Given the description of an element on the screen output the (x, y) to click on. 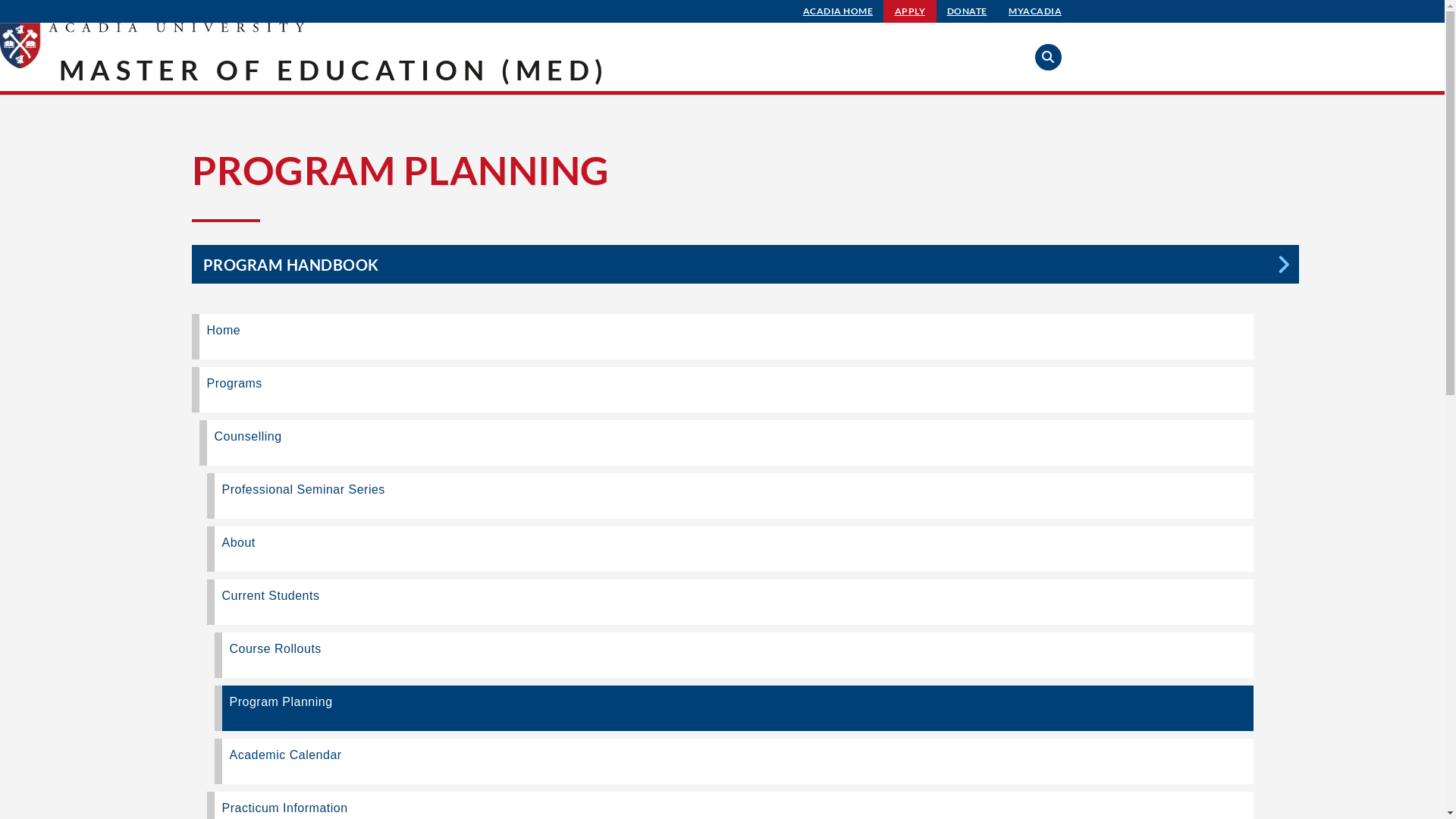
MYACADIA Element type: text (1035, 11)
PROGRAM HANDBOOK Element type: text (744, 263)
Current Students Element type: text (729, 601)
Programs Element type: text (721, 389)
Course Rollouts Element type: text (732, 654)
MASTER OF EDUCATION (MED) Element type: text (333, 69)
APPLY Element type: text (909, 11)
Professional Seminar Series Element type: text (729, 495)
Counselling Element type: text (725, 442)
Academic Calendar Element type: text (732, 761)
Home Element type: text (721, 336)
About Element type: text (729, 548)
DONATE Element type: text (966, 11)
ACADIA HOME Element type: text (837, 11)
